Given the description of an element on the screen output the (x, y) to click on. 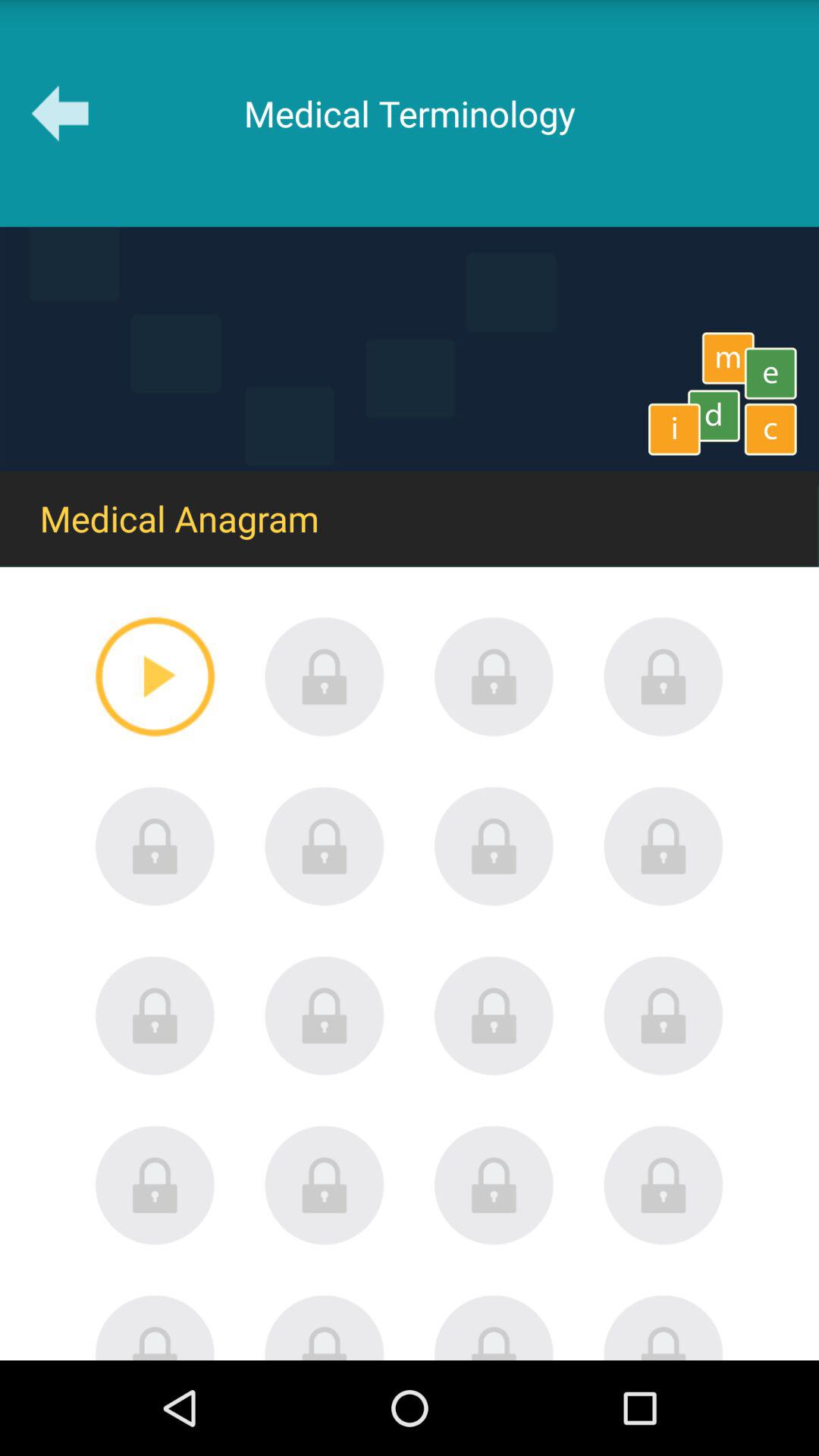
lock (493, 846)
